Given the description of an element on the screen output the (x, y) to click on. 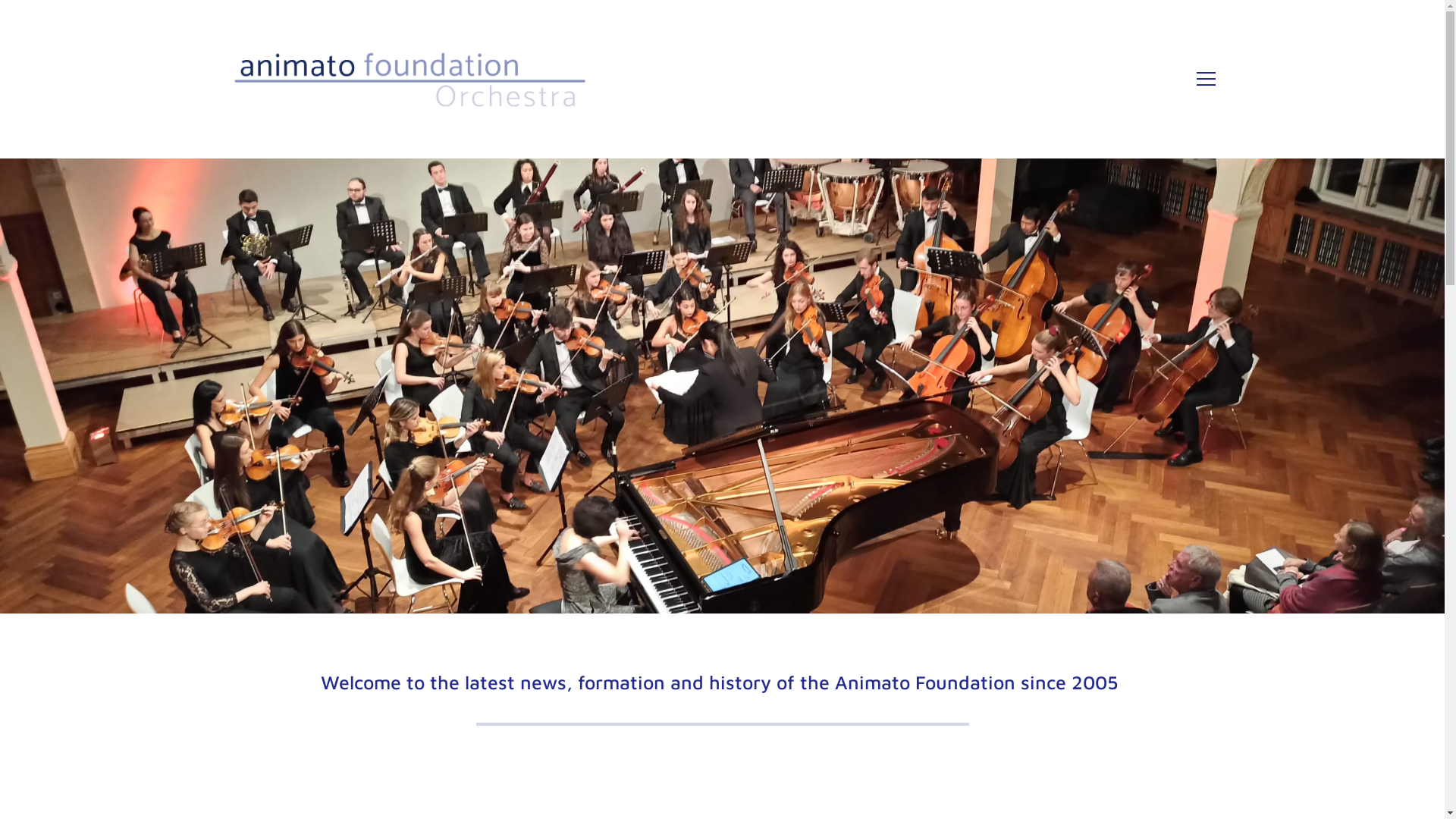
Menu Element type: text (1205, 78)
